Given the description of an element on the screen output the (x, y) to click on. 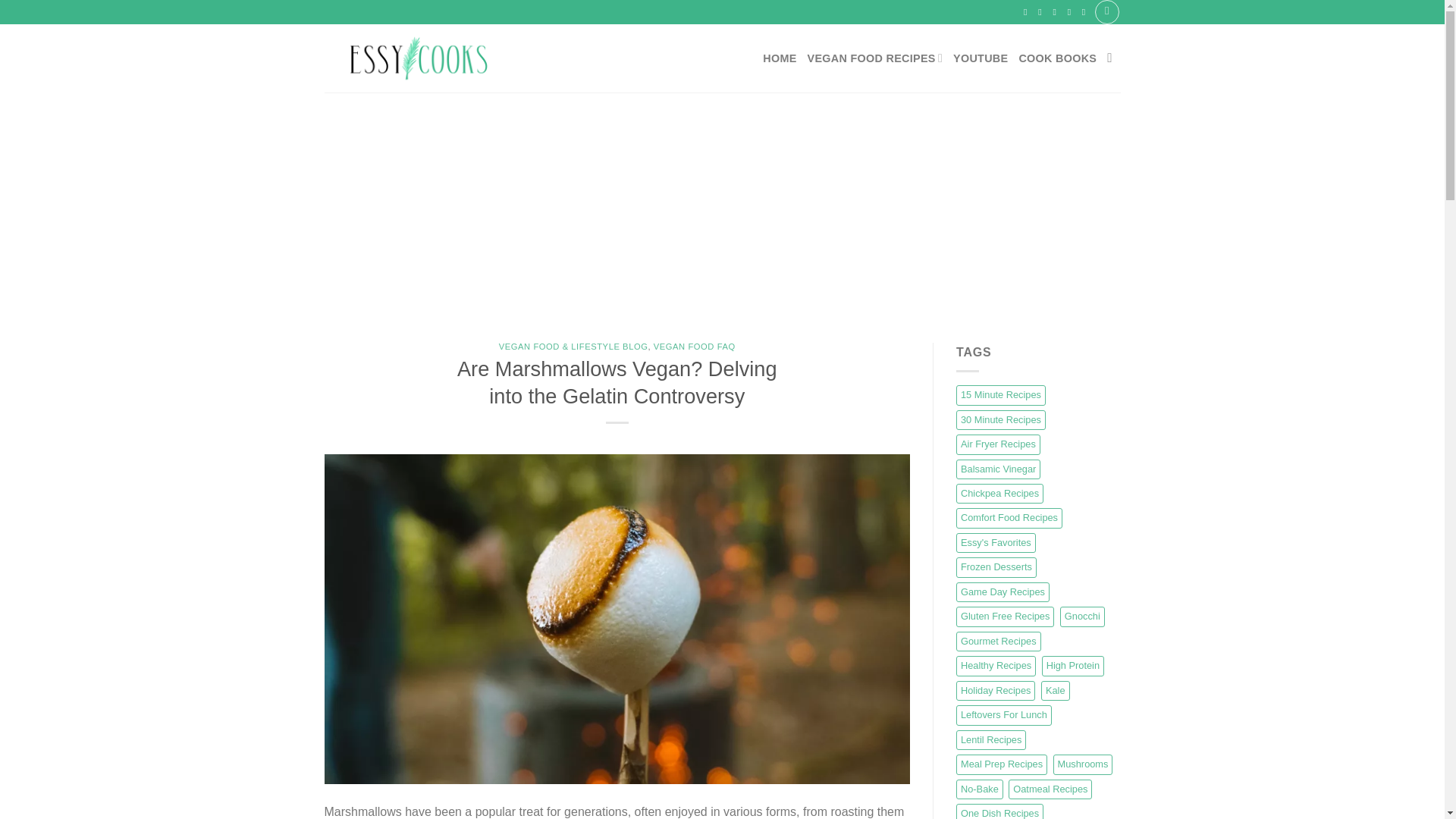
VEGAN FOOD RECIPES (875, 57)
HOME (779, 58)
YOUTUBE (980, 58)
Cart (1106, 12)
COOK BOOKS (1056, 58)
VEGAN FOOD FAQ (694, 346)
